Given the description of an element on the screen output the (x, y) to click on. 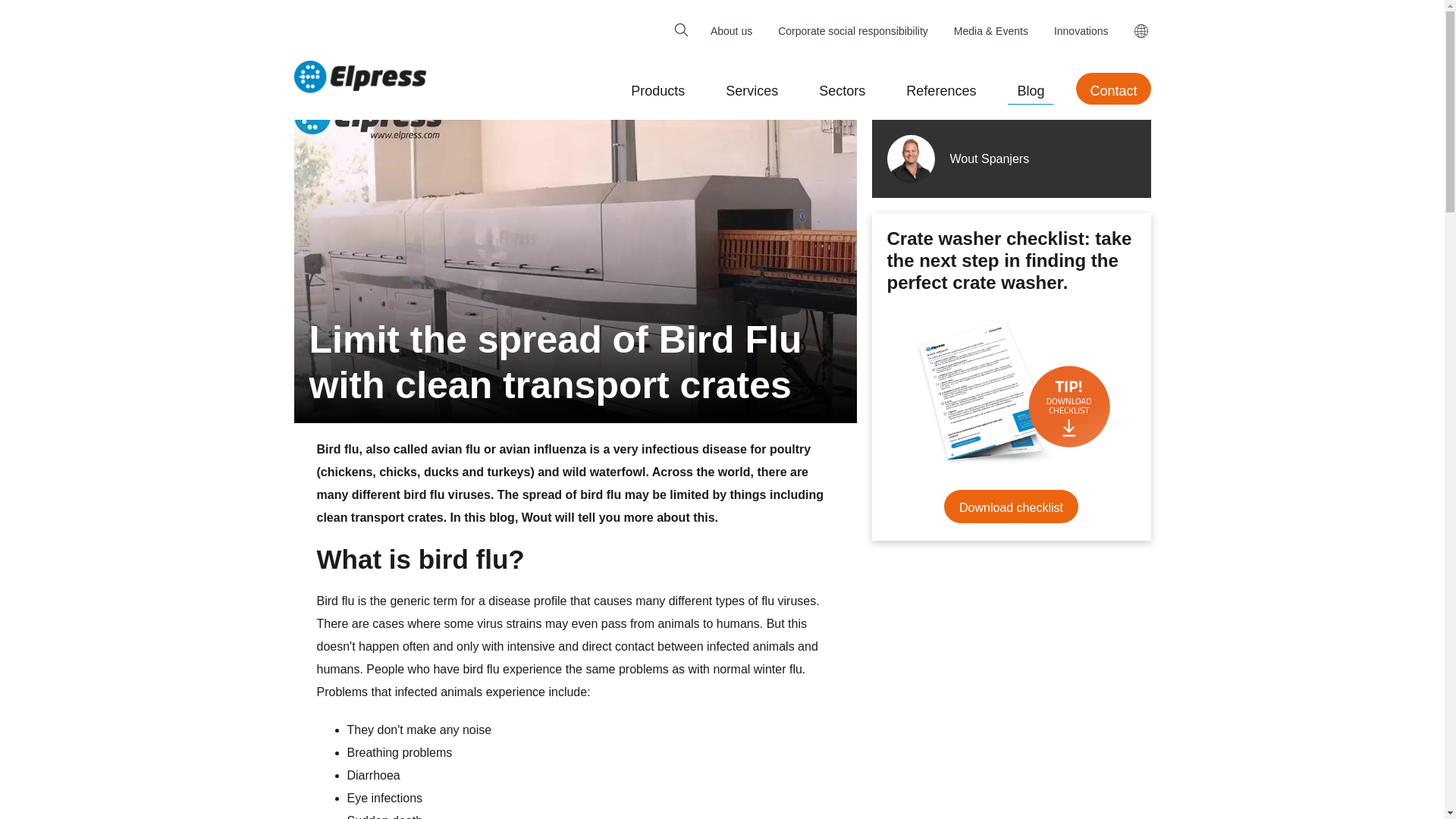
About us (731, 30)
Elpress (360, 76)
Products (657, 88)
Innovations (1081, 30)
Wout Spanjers (1011, 158)
Corporate social responsibibility (852, 30)
